Given the description of an element on the screen output the (x, y) to click on. 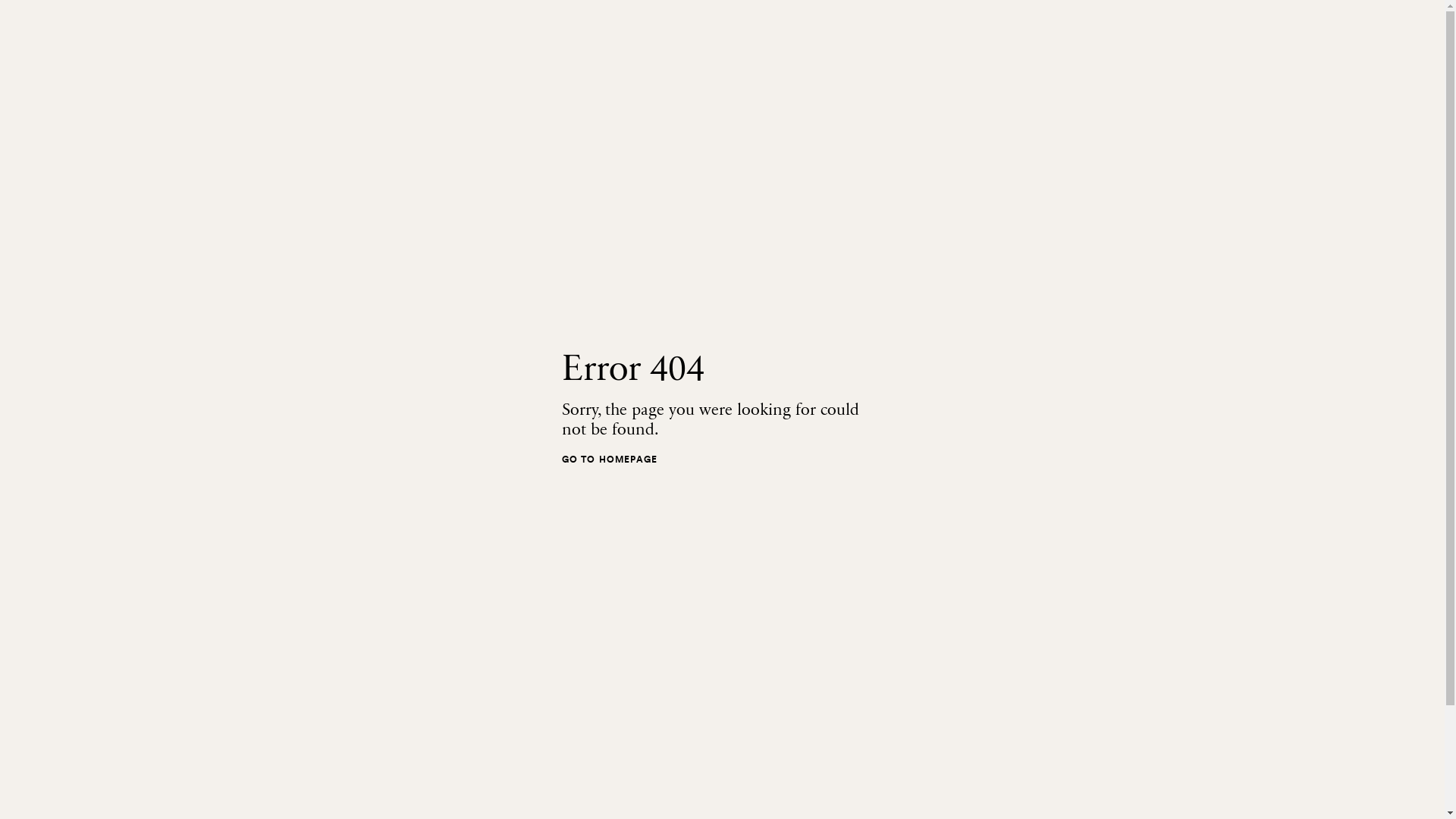
GO TO HOMEPAGE Element type: text (609, 458)
